Given the description of an element on the screen output the (x, y) to click on. 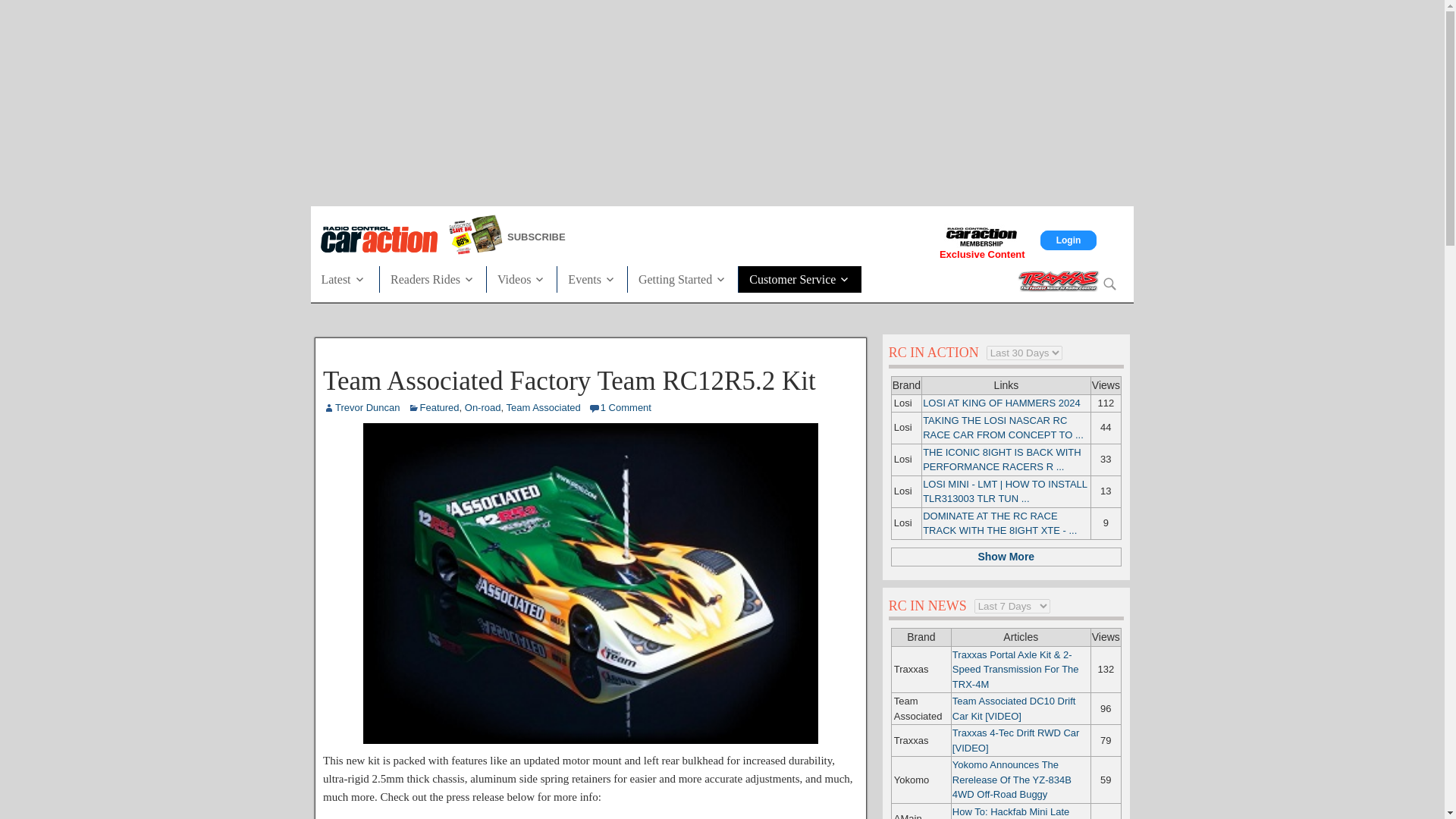
Login (1069, 240)
Videos (521, 278)
Latest (348, 278)
Team Associated Factory Team RC12R5.2 Kit (590, 740)
3rd party ad content (721, 100)
Readers Rides (433, 278)
LOSI AT KING OF HAMMERS 2024 (1001, 402)
SUBSCRIBE (597, 236)
